Given the description of an element on the screen output the (x, y) to click on. 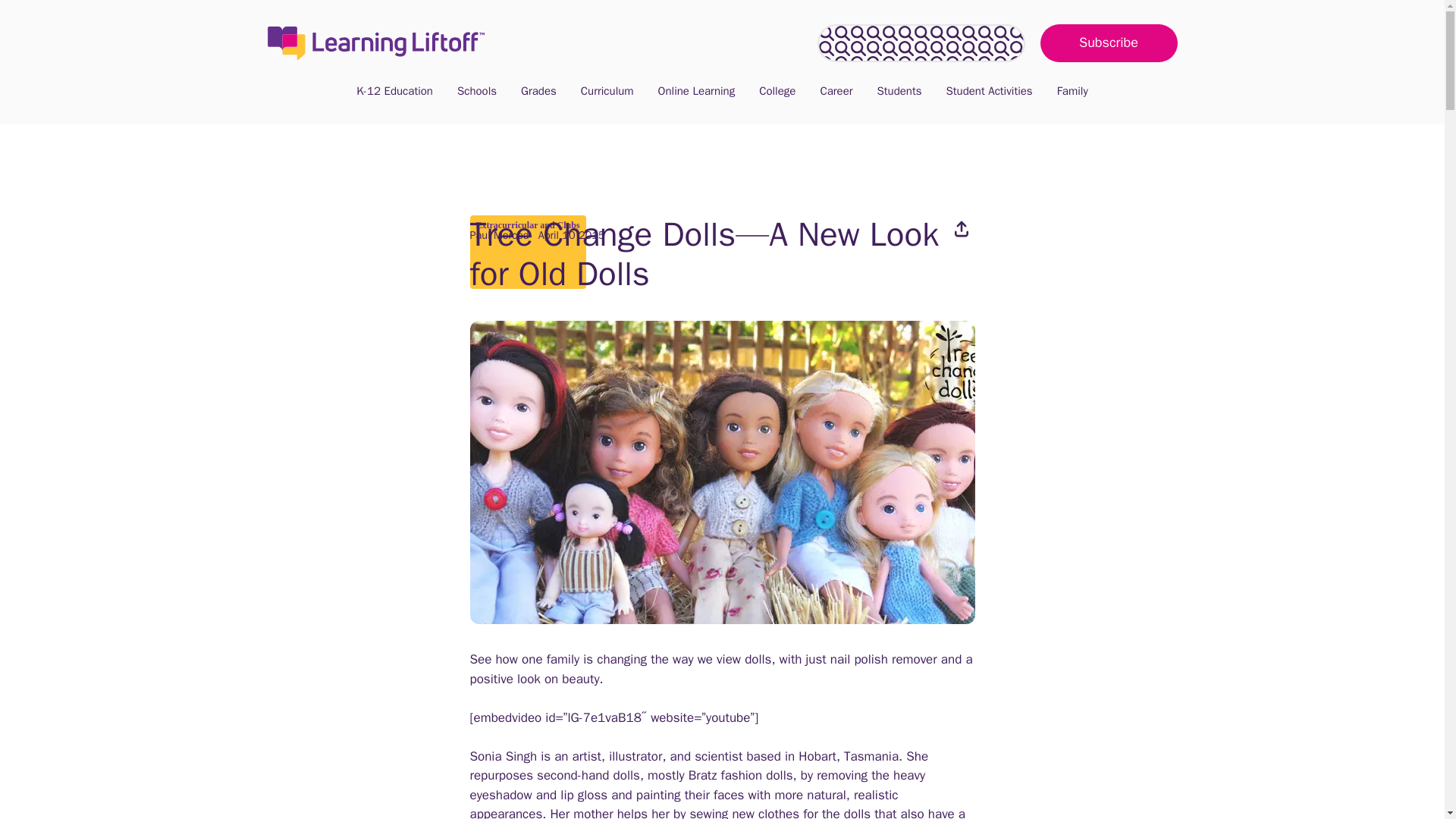
Subscribe (1109, 43)
Career (836, 90)
Student Activities (989, 90)
Curriculum (607, 90)
Schools (476, 90)
Family (1072, 90)
Grades (538, 90)
Students (899, 90)
Extracurricular and Clubs (527, 225)
Online Learning (697, 90)
K-12 Education (394, 90)
College (777, 90)
